Given the description of an element on the screen output the (x, y) to click on. 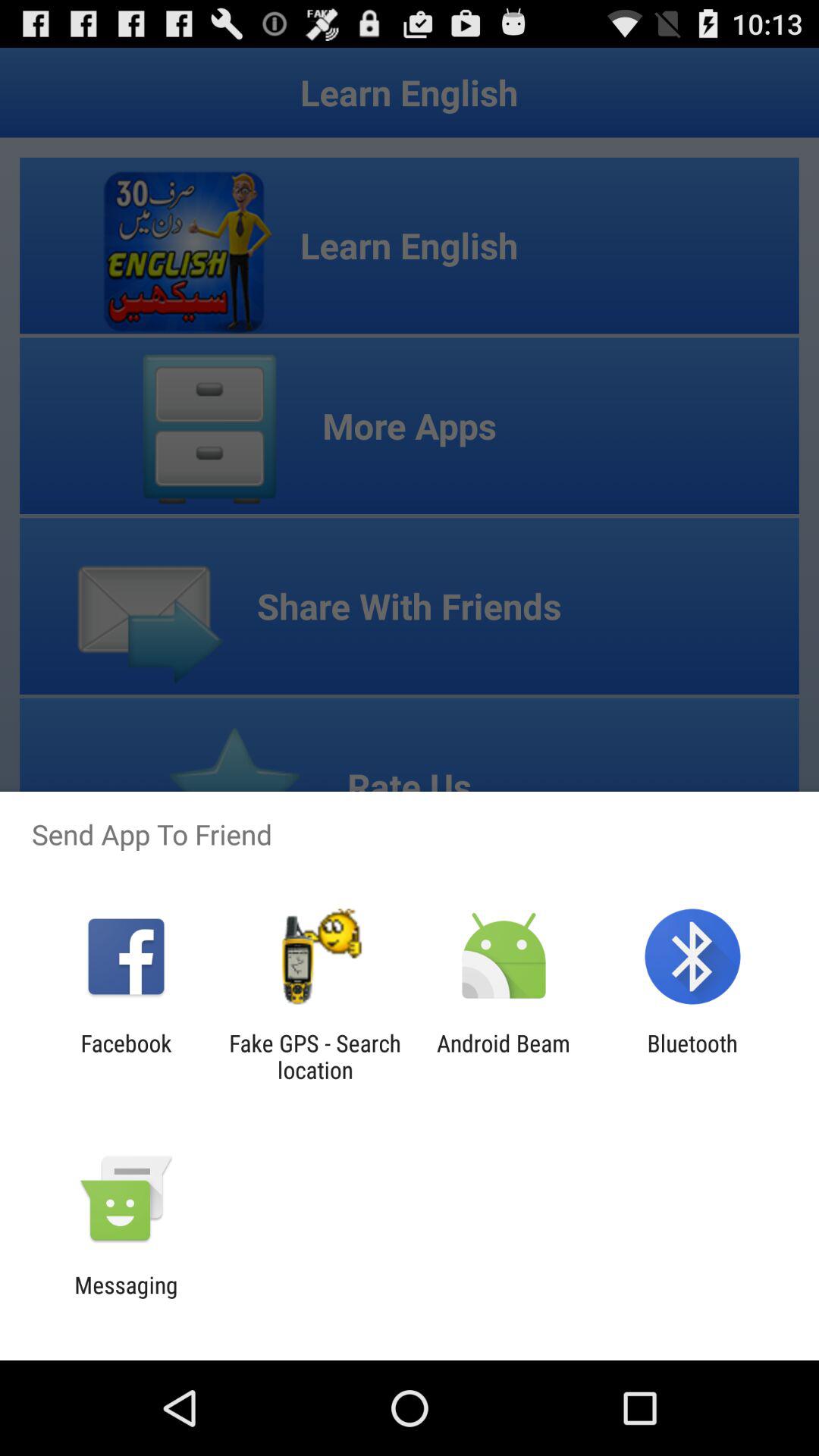
turn off the facebook (125, 1056)
